Given the description of an element on the screen output the (x, y) to click on. 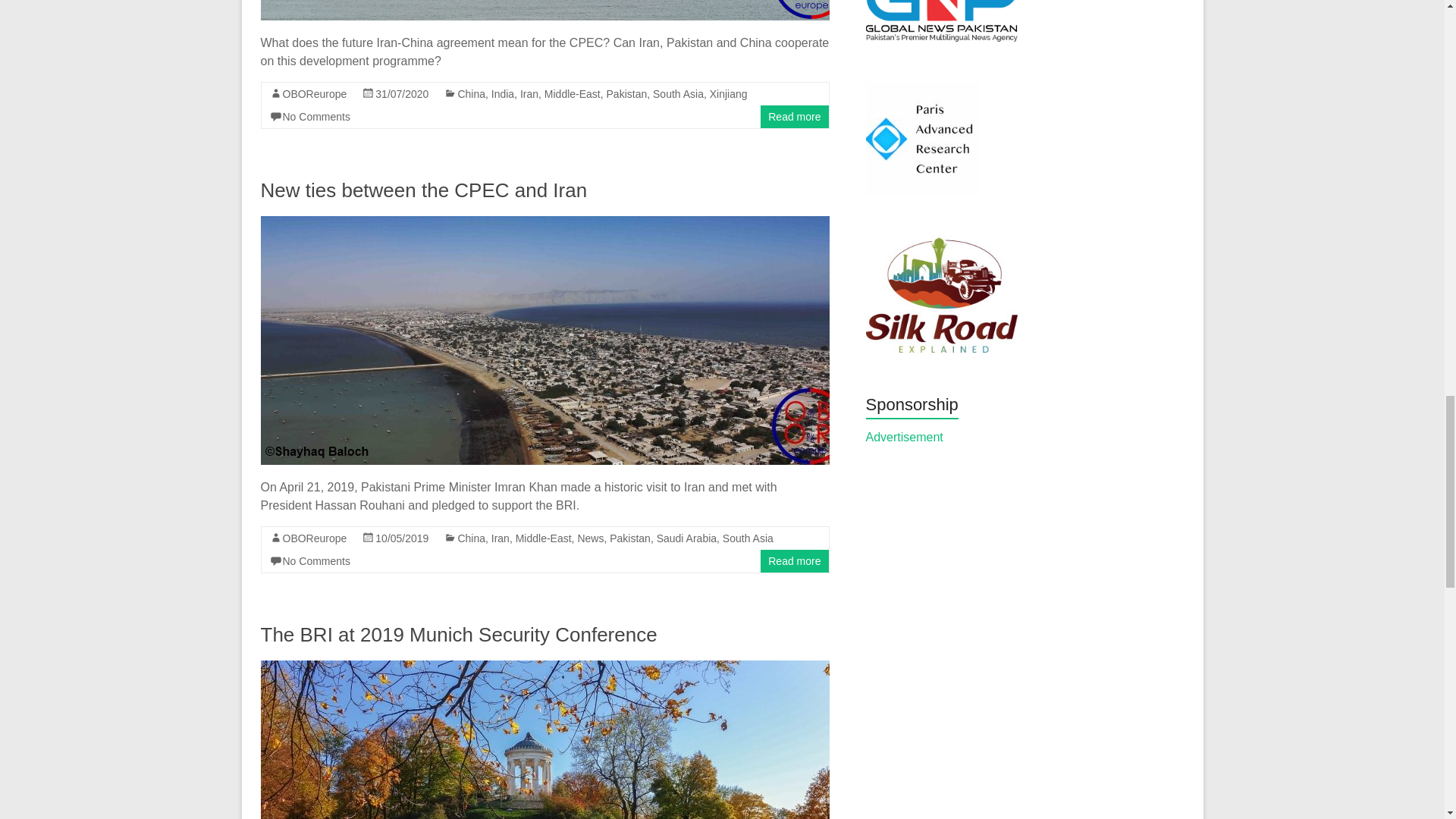
New ties between the CPEC and Iran (424, 190)
Iran and the CPEC (544, 10)
New ties between the CPEC and Iran (544, 223)
11:32 (401, 93)
